Given the description of an element on the screen output the (x, y) to click on. 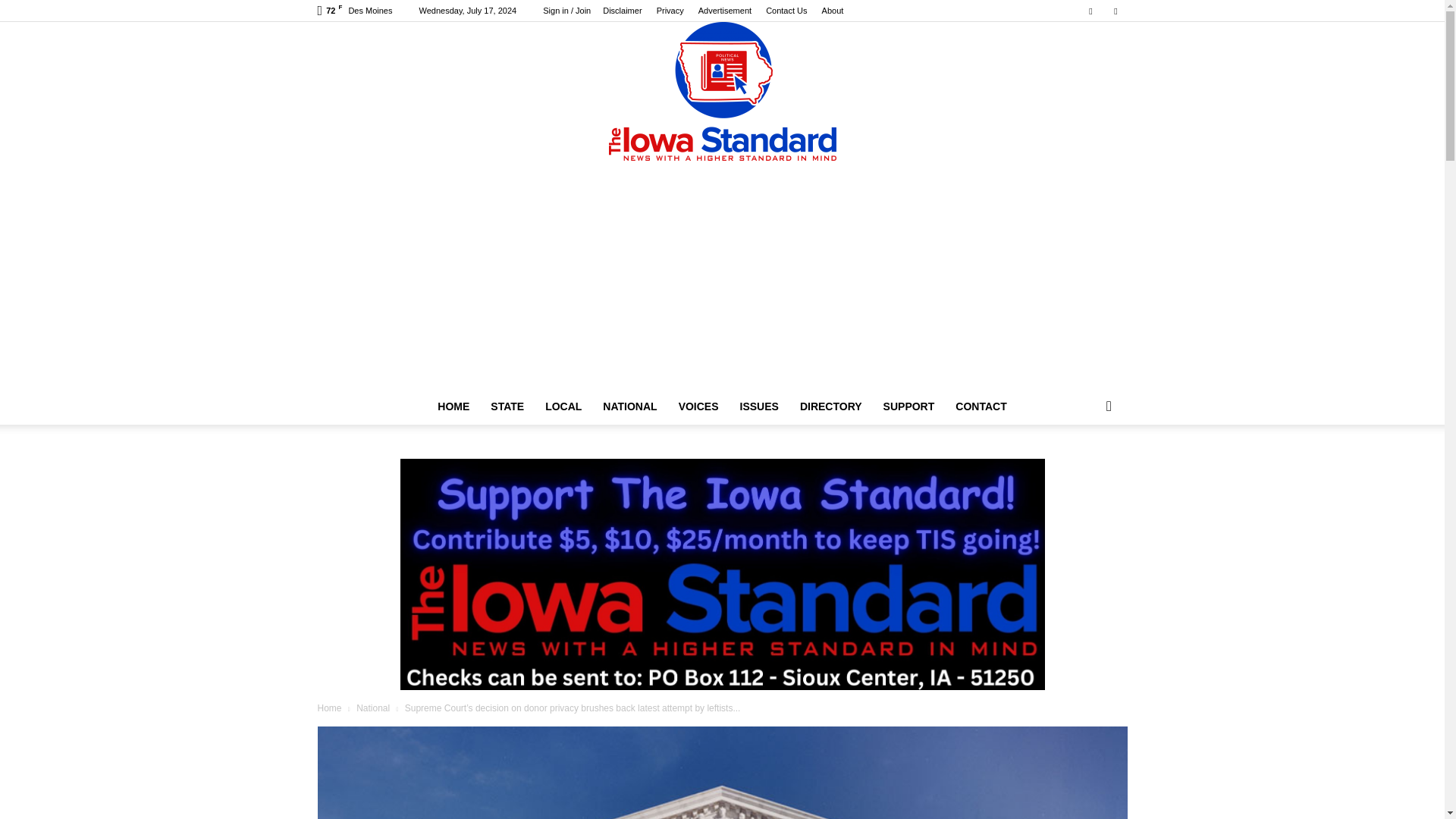
Twitter (1114, 10)
Disclaimer (622, 10)
Privacy (670, 10)
Facebook (1090, 10)
sup court building (721, 772)
View all posts in National (373, 707)
